Given the description of an element on the screen output the (x, y) to click on. 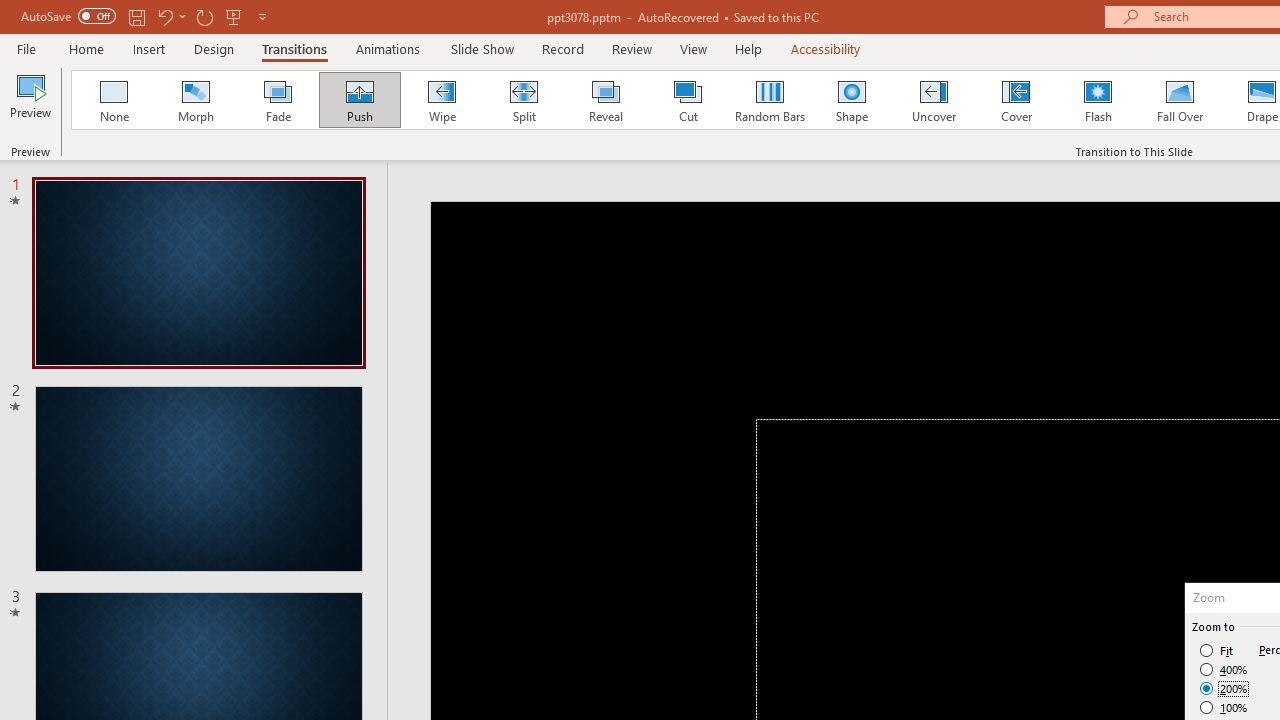
200% (1224, 688)
Push (359, 100)
Reveal (605, 100)
